Given the description of an element on the screen output the (x, y) to click on. 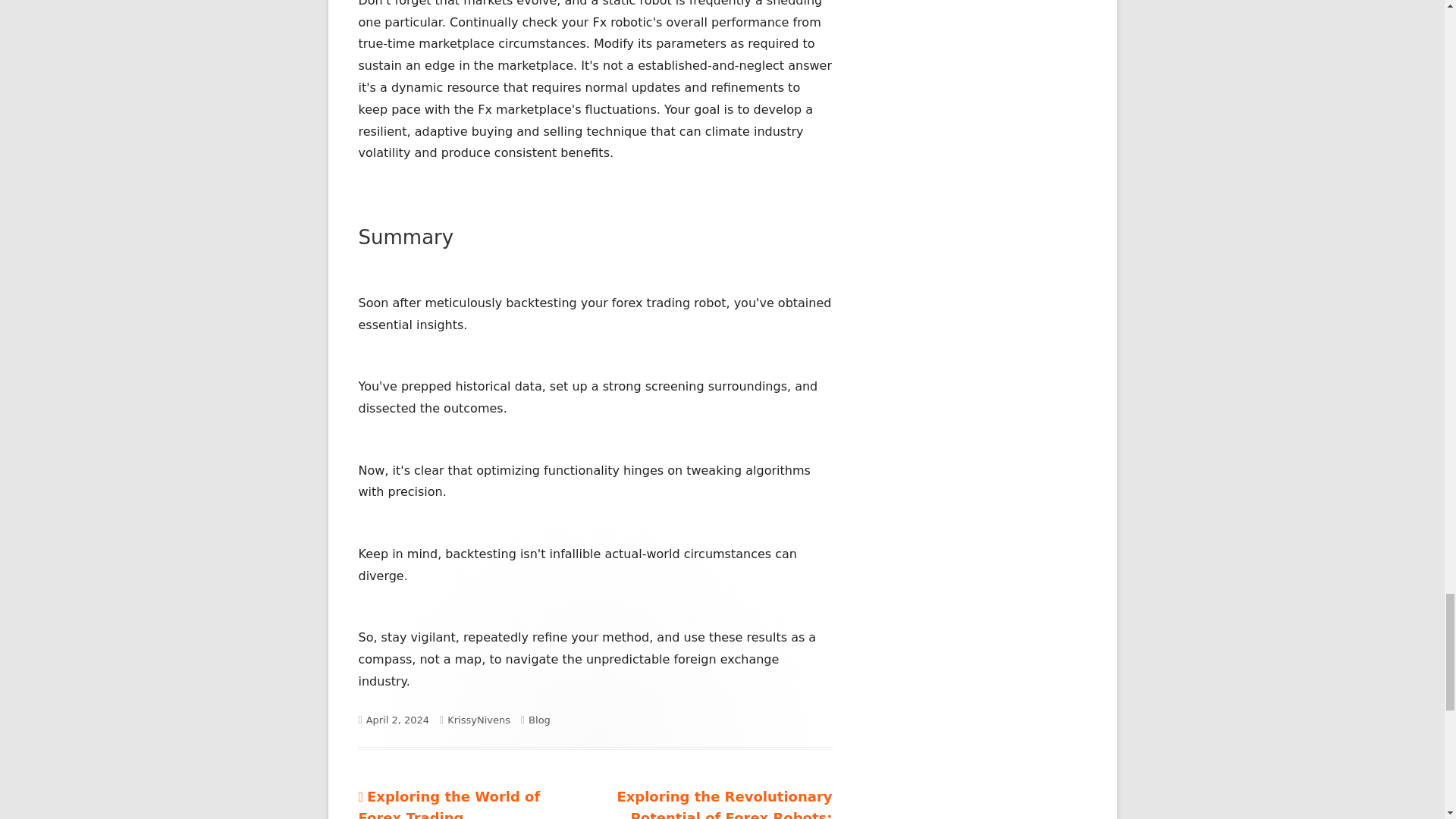
KrissyNivens (478, 719)
April 2, 2024 (397, 719)
Blog (449, 803)
